Given the description of an element on the screen output the (x, y) to click on. 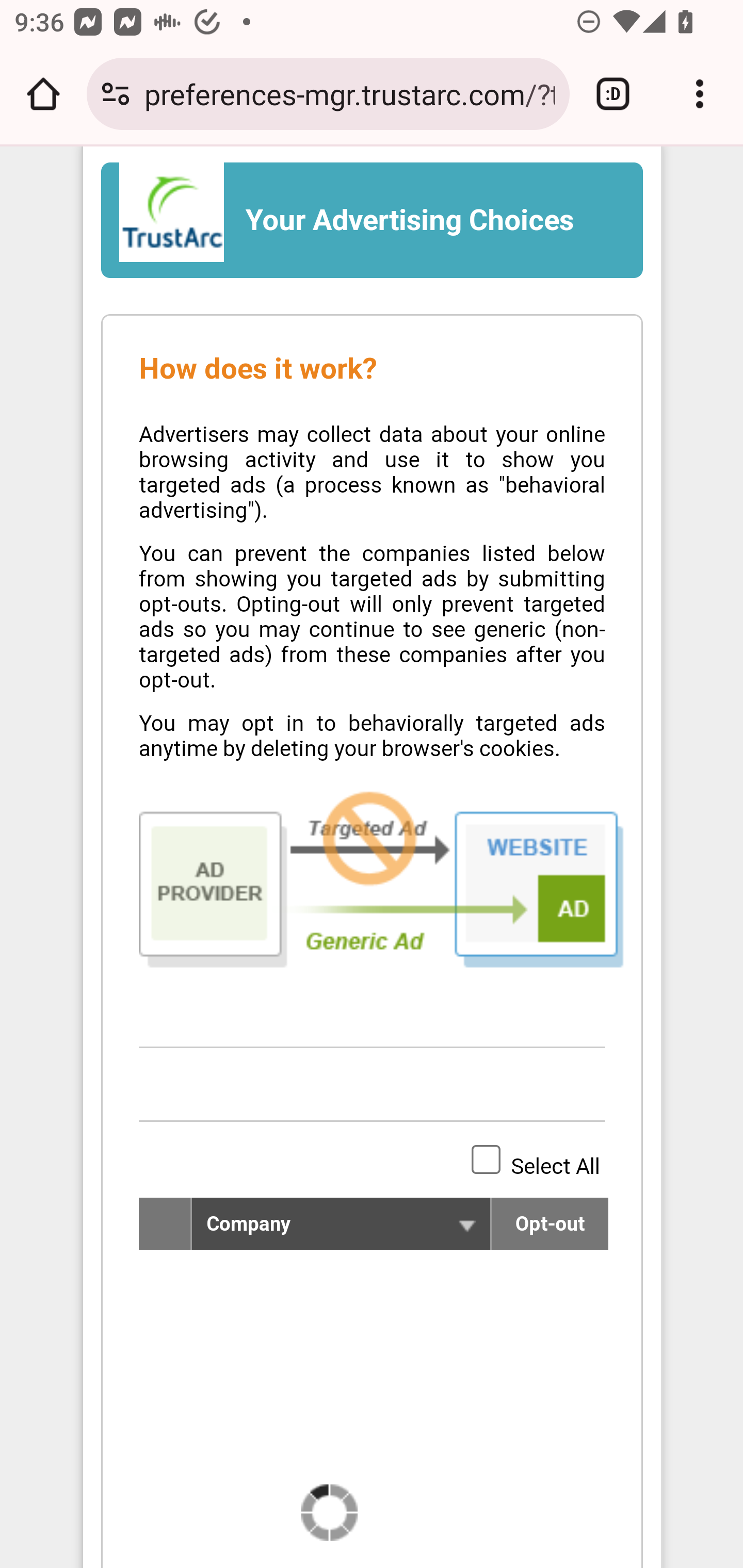
Open the home page (43, 93)
Connection is secure (115, 93)
Switch or close tabs (612, 93)
Customize and control Google Chrome (699, 93)
 Select All  (485, 1159)
